Given the description of an element on the screen output the (x, y) to click on. 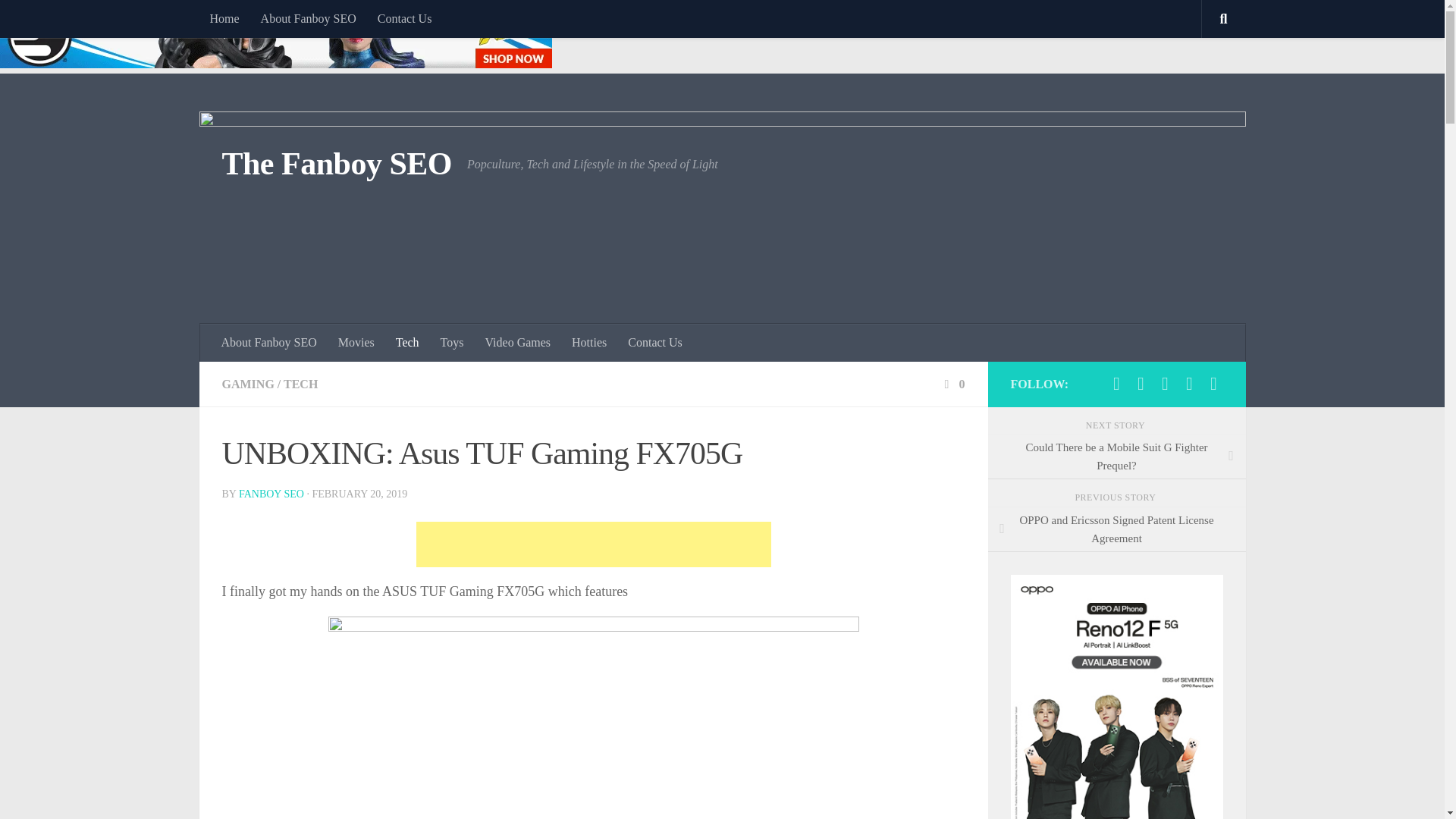
0 (951, 383)
Posts by Fanboy SEO (271, 493)
Toys (451, 342)
Video Games (517, 342)
The Fanboy SEO (336, 164)
Contact Us (404, 18)
Advertisement (592, 544)
Follow us on Twitch (1188, 383)
About Fanboy SEO (269, 342)
TECH (300, 383)
